Given the description of an element on the screen output the (x, y) to click on. 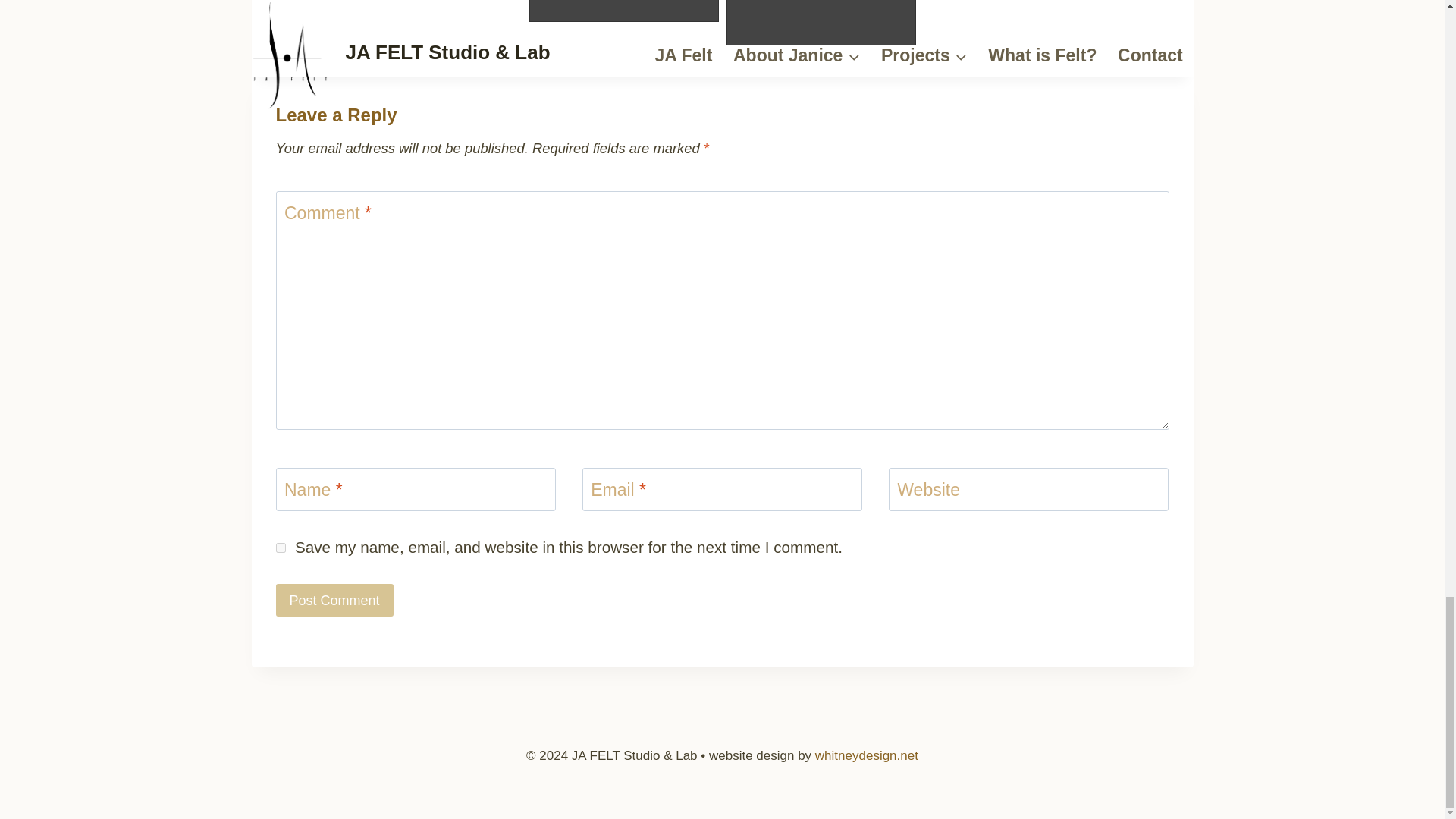
Post Comment (334, 599)
Post Comment (334, 599)
whitneydesign.net (866, 755)
yes (280, 547)
